Given the description of an element on the screen output the (x, y) to click on. 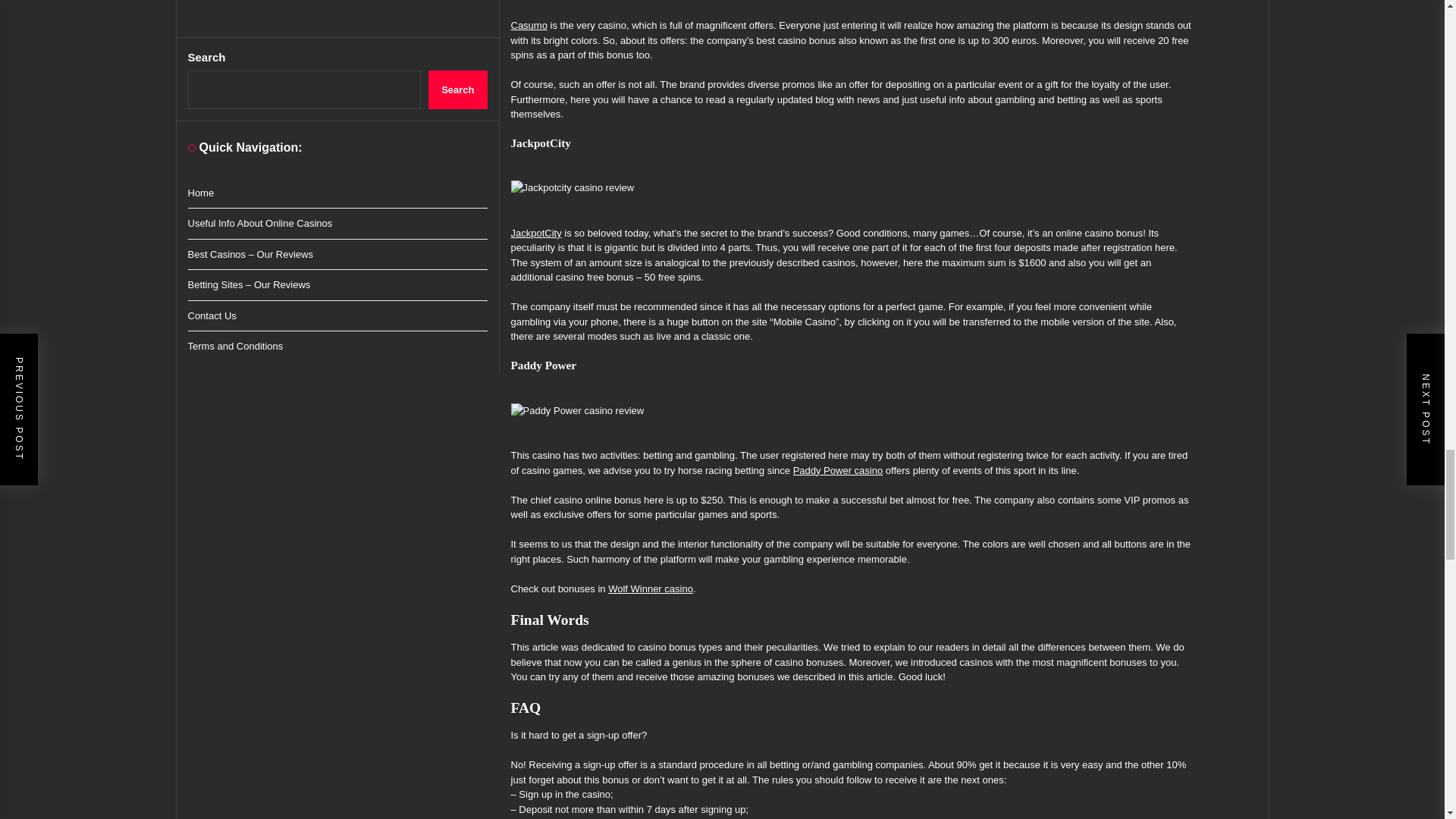
Casumo (529, 25)
Paddy Power casino (838, 470)
JackpotCity (536, 233)
Wolf Winner casino (650, 588)
